Given the description of an element on the screen output the (x, y) to click on. 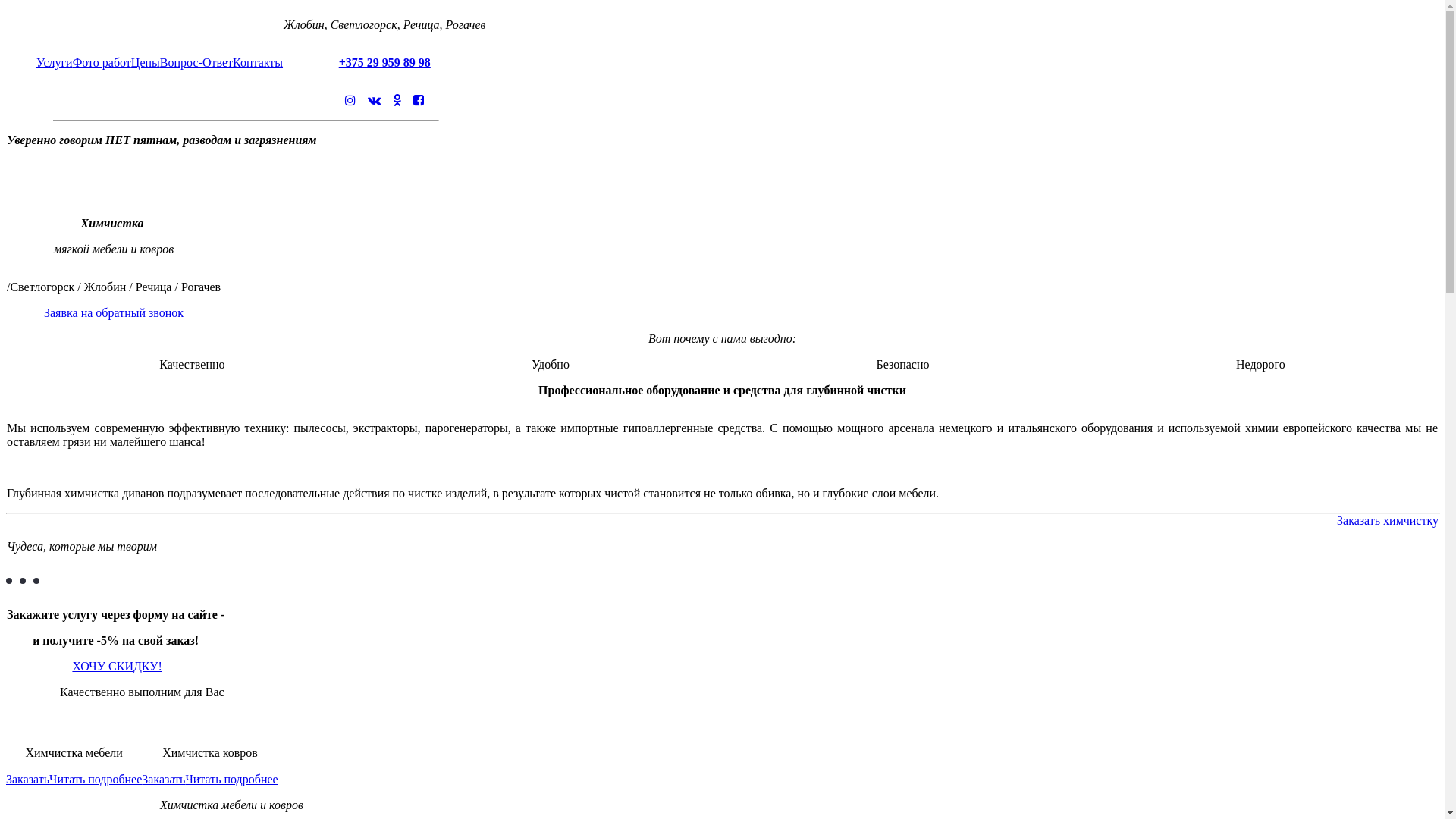
+375 29 959 89 98 Element type: text (384, 62)
